Given the description of an element on the screen output the (x, y) to click on. 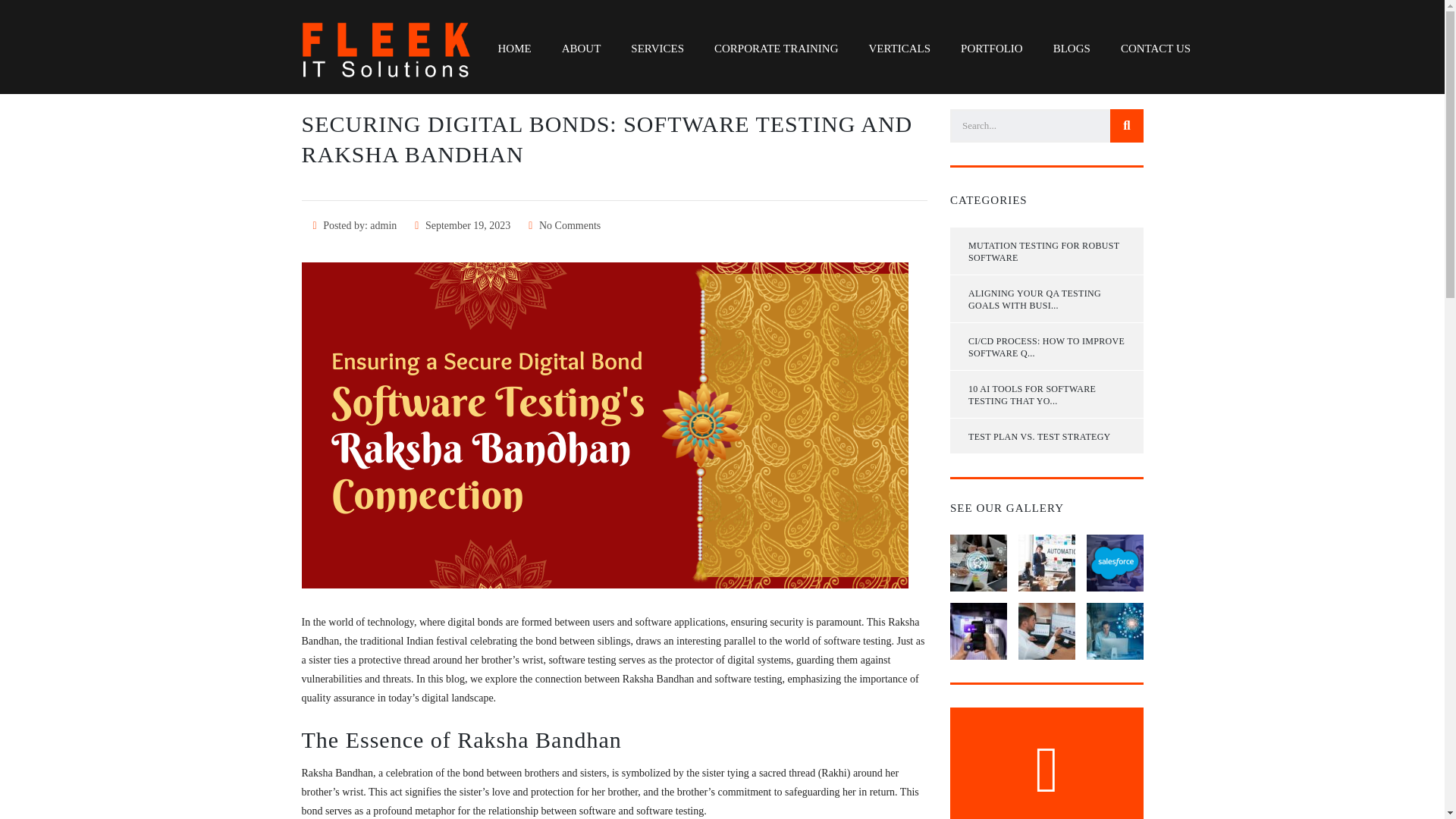
fleek-logo (386, 48)
September 19, 2023 (462, 225)
No Comments (563, 225)
PORTFOLIO (991, 48)
Mutation Testing for Robust Software (1045, 249)
SERVICES (656, 48)
CORPORATE TRAINING (775, 48)
ABOUT (581, 48)
VERTICALS (898, 48)
BLOGS (1071, 48)
CONTACT US (1155, 48)
HOME (513, 48)
